Given the description of an element on the screen output the (x, y) to click on. 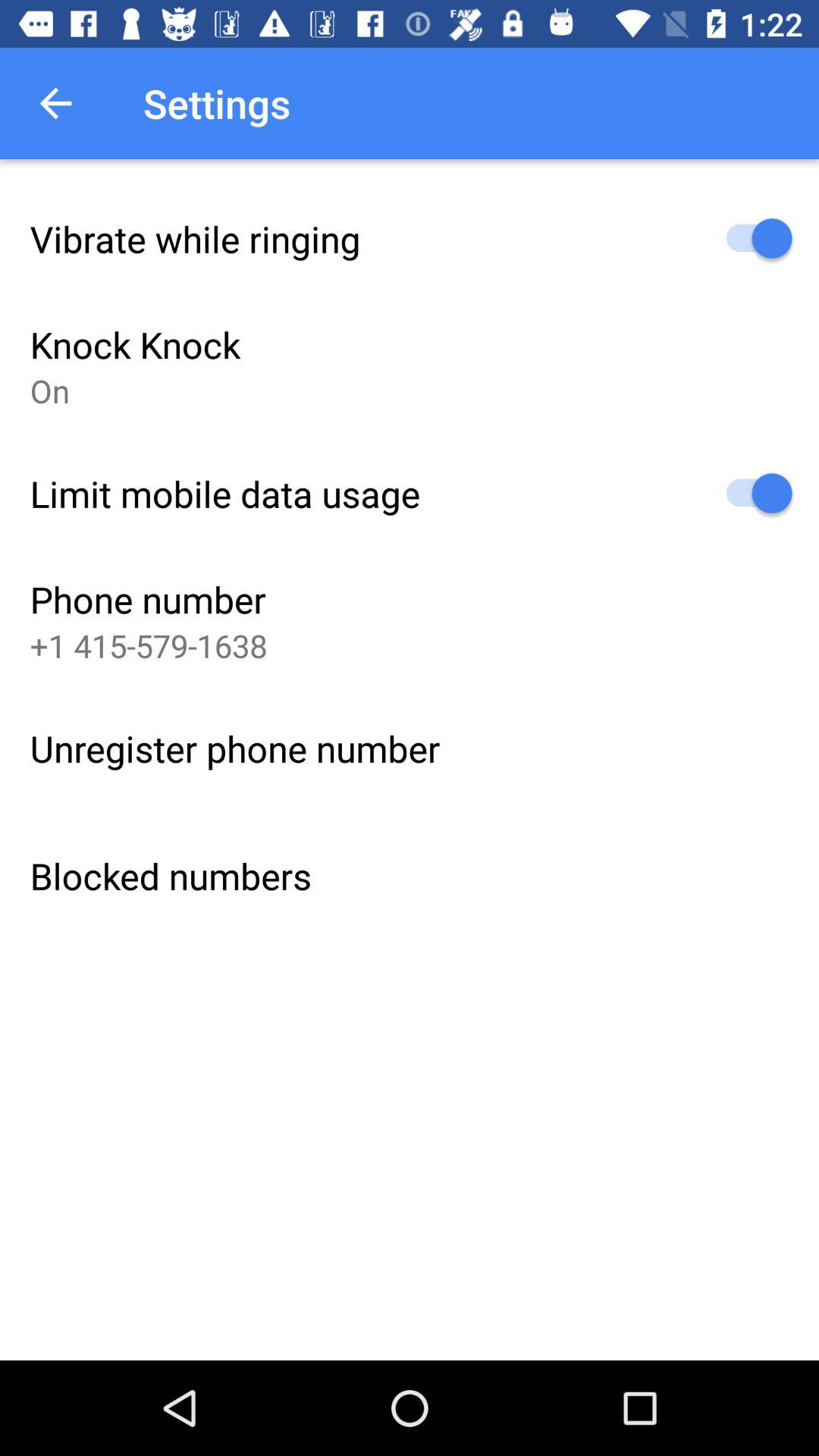
open the icon below the unregister phone number icon (170, 875)
